Given the description of an element on the screen output the (x, y) to click on. 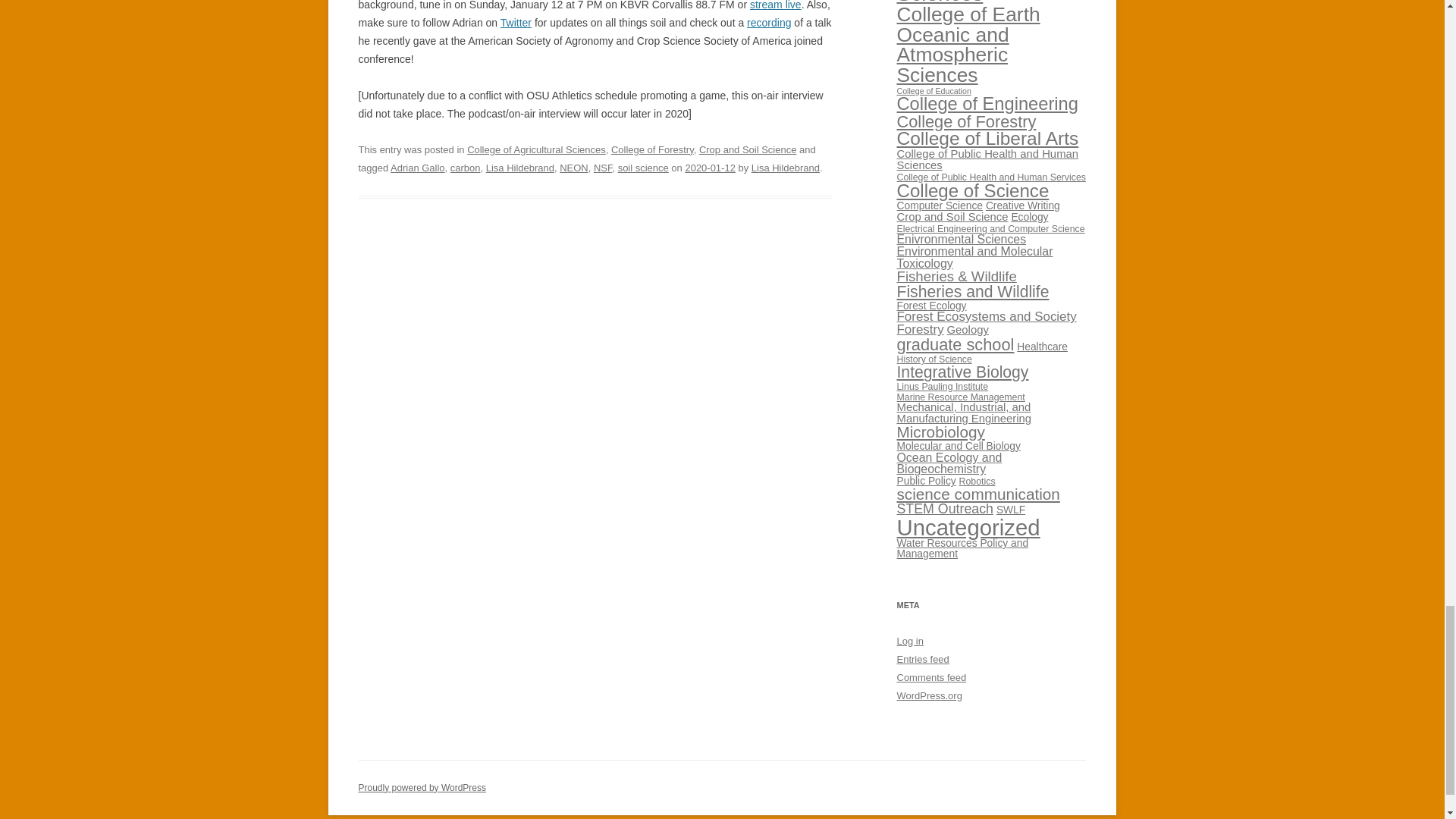
2020-01-12 (709, 167)
Semantic Personal Publishing Platform (422, 787)
Adrian Gallo (417, 167)
Twitter (515, 22)
recording (768, 22)
View all posts by Lisa Hildebrand (785, 167)
Crop and Soil Science (747, 149)
carbon (464, 167)
Lisa Hildebrand (785, 167)
Lisa Hildebrand (520, 167)
NEON (573, 167)
NSF (603, 167)
soil science (642, 167)
stream live (775, 5)
College of Forestry (652, 149)
